Given the description of an element on the screen output the (x, y) to click on. 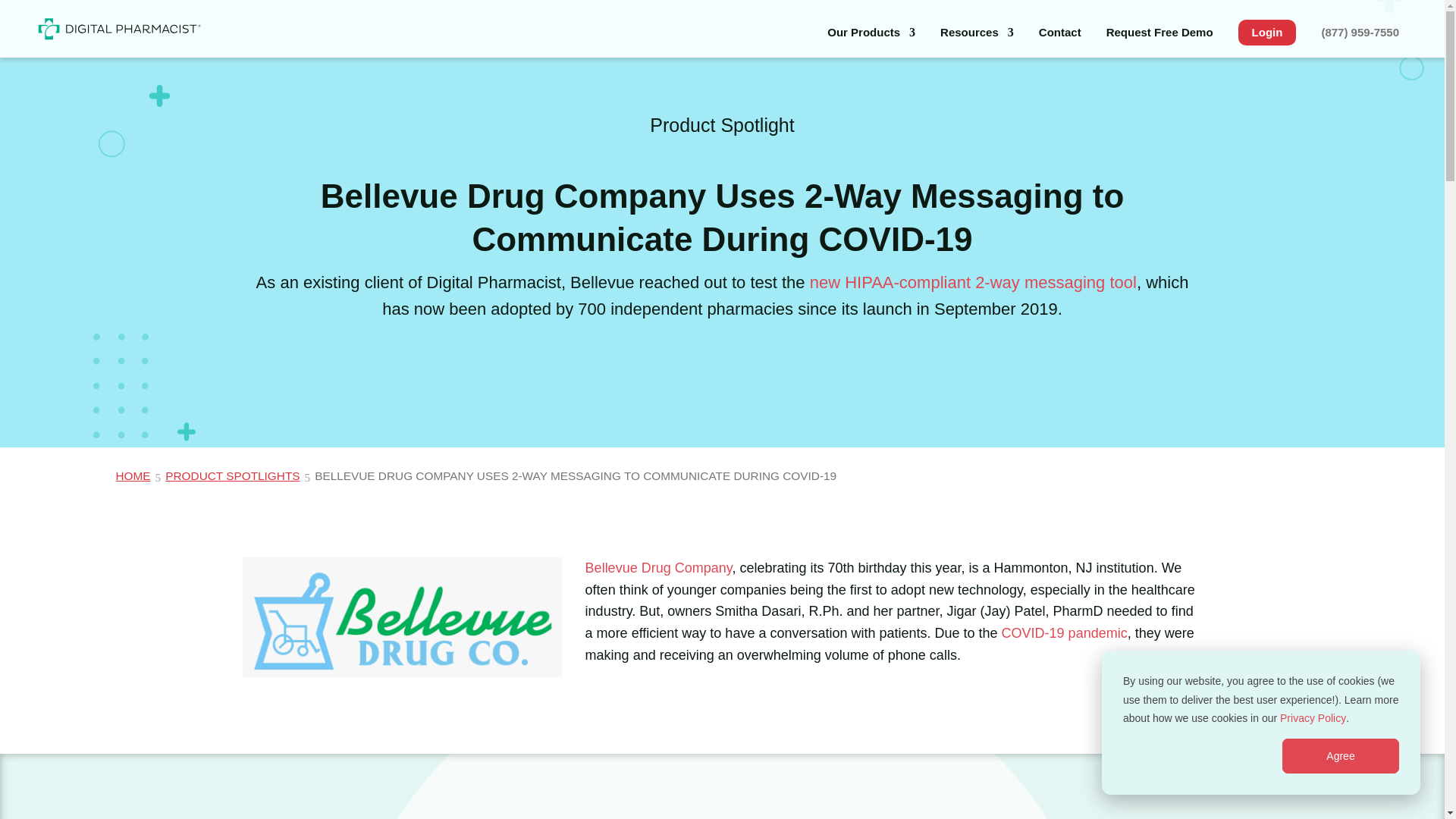
Login (1268, 32)
Contact (1060, 42)
Resources (976, 42)
PRODUCT SPOTLIGHTS (234, 475)
Our Products (871, 42)
HOME (134, 475)
Belleevue Drug Company Logo (402, 617)
Request Free Demo (1159, 42)
Bellevue Drug Company (658, 567)
new HIPAA-compliant 2-way messaging tool (973, 281)
